Given the description of an element on the screen output the (x, y) to click on. 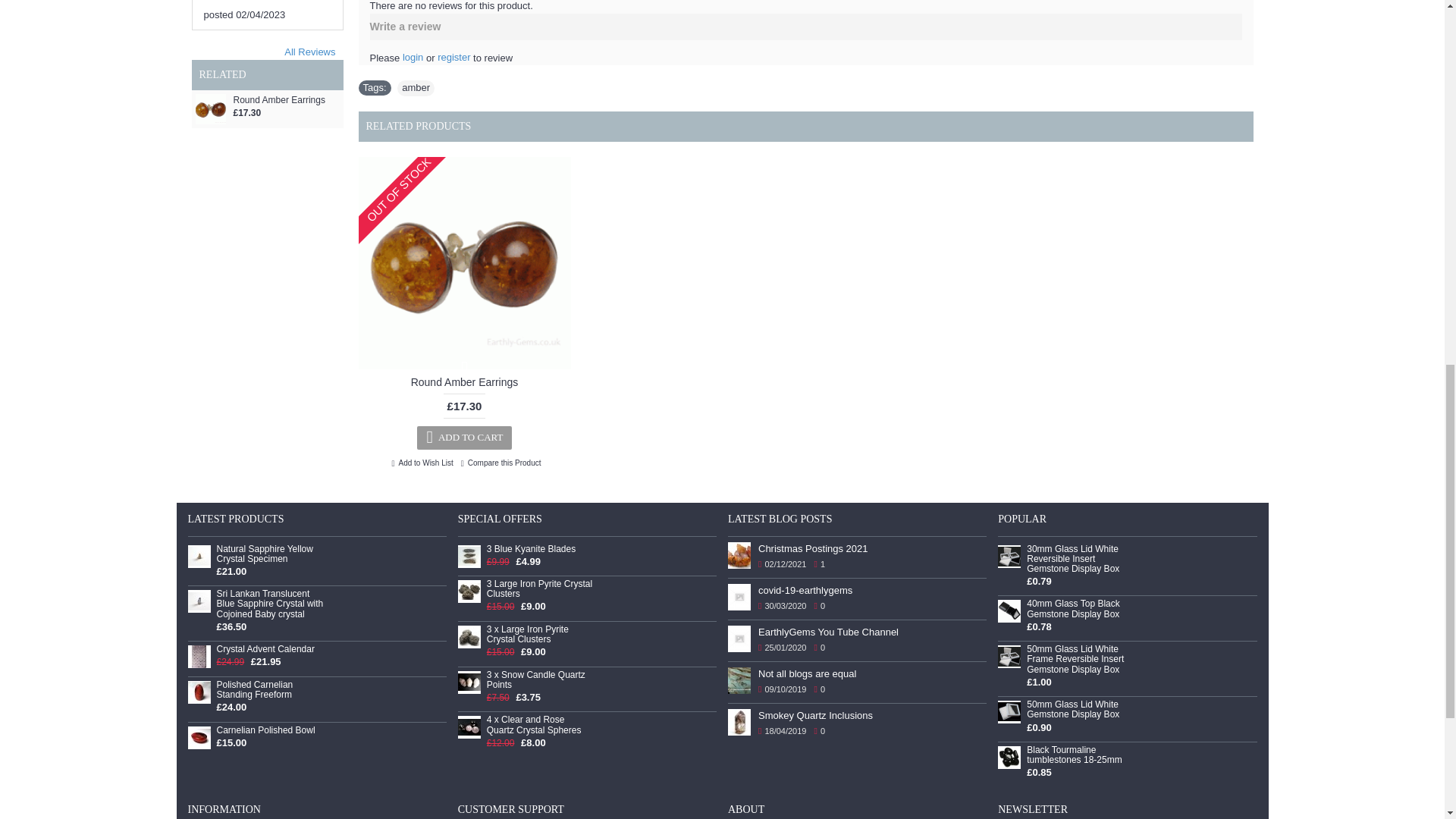
Round Amber Earrings (210, 109)
Round Amber Earrings (464, 263)
Natural Sapphire Yellow Crystal Specimen (199, 556)
